Given the description of an element on the screen output the (x, y) to click on. 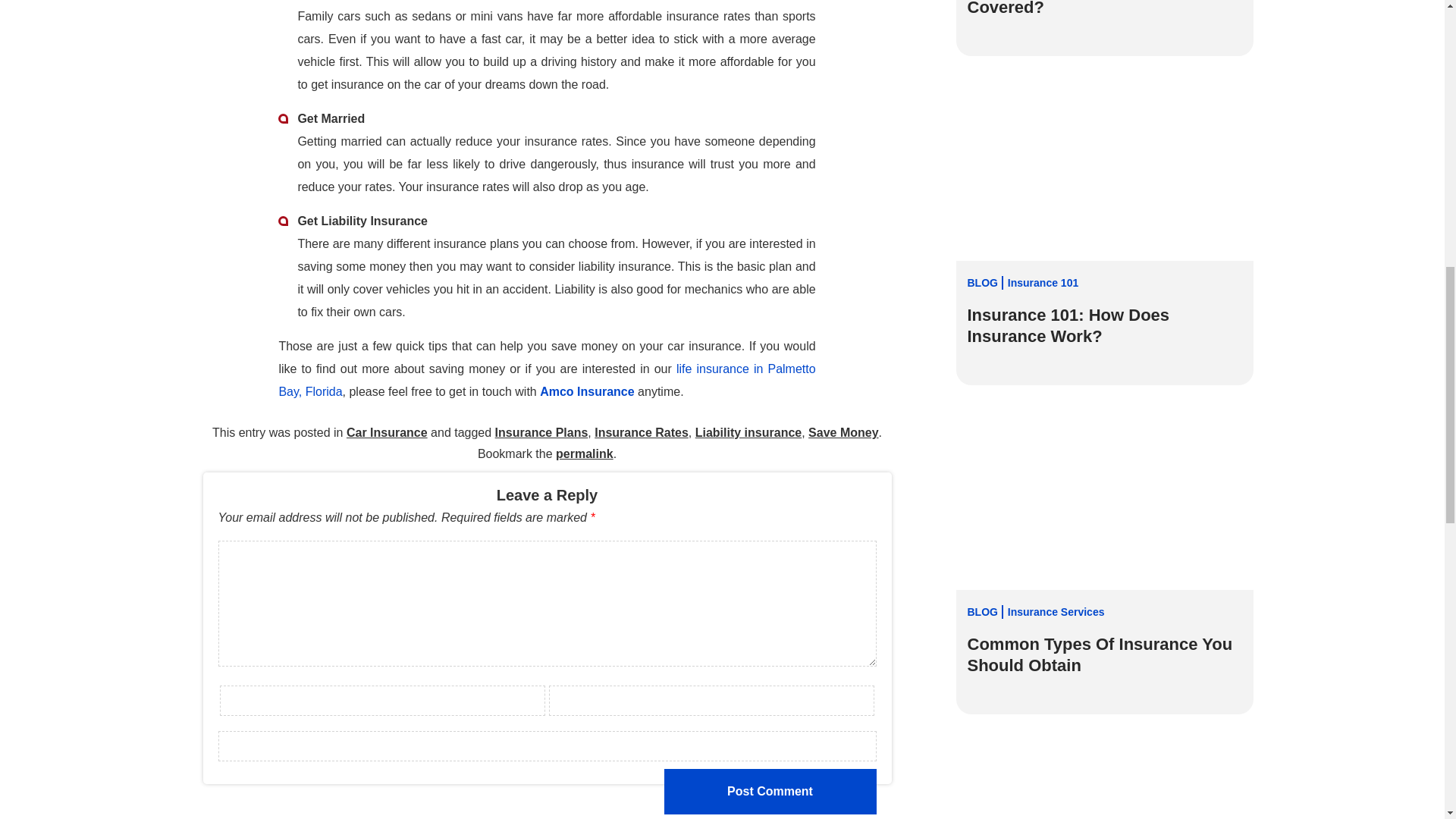
Insurance 101 (1042, 282)
Home (546, 380)
BLOG (986, 611)
permalink (584, 454)
Common Types Of Insurance You Should Obtain (1104, 654)
Insurance Rates (641, 432)
Insurance 101: How Does Insurance Work? (1104, 325)
Post Comment (769, 791)
Save Money (842, 432)
Insurance Services (1056, 611)
